Given the description of an element on the screen output the (x, y) to click on. 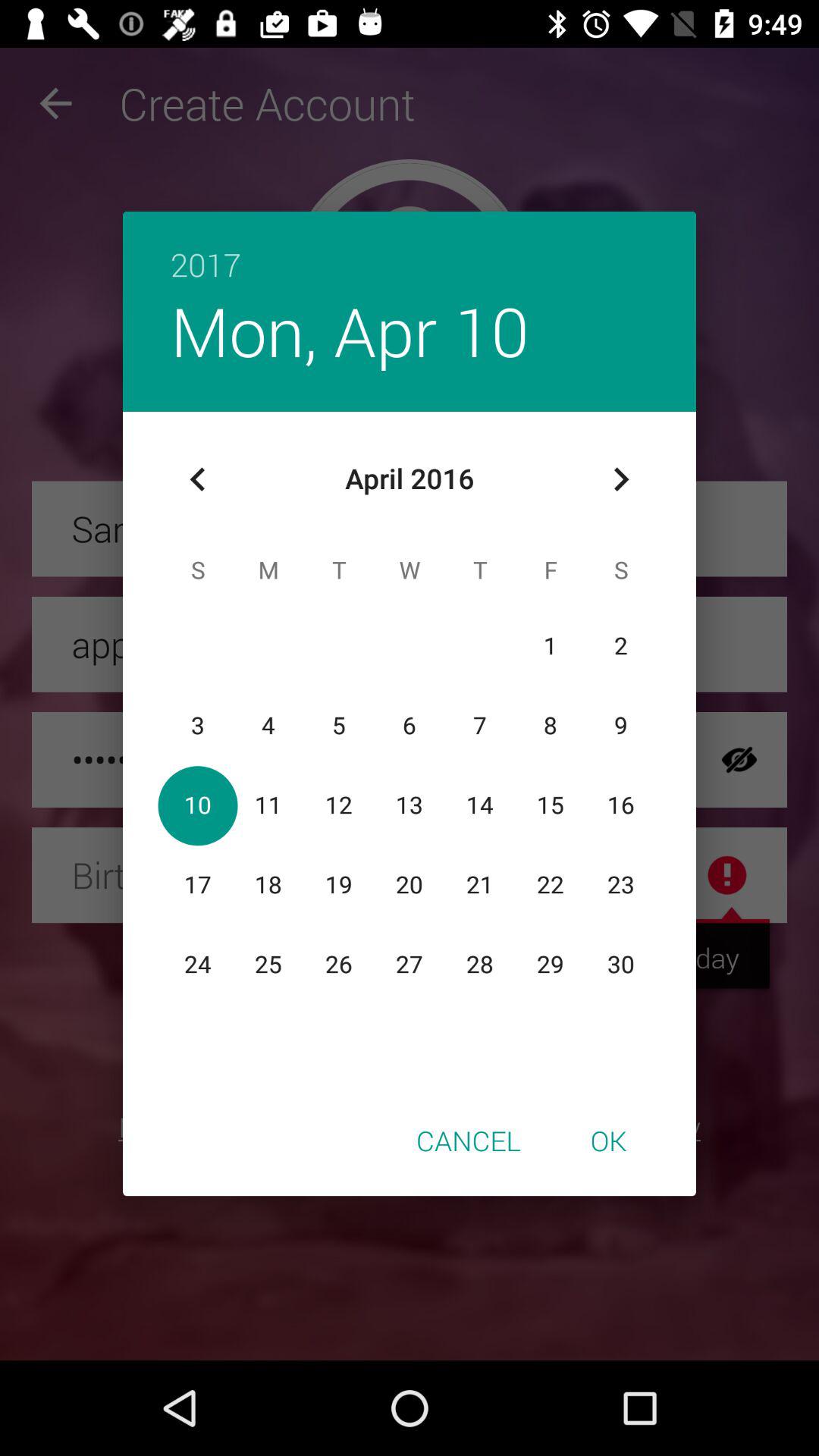
flip to the cancel icon (468, 1140)
